Given the description of an element on the screen output the (x, y) to click on. 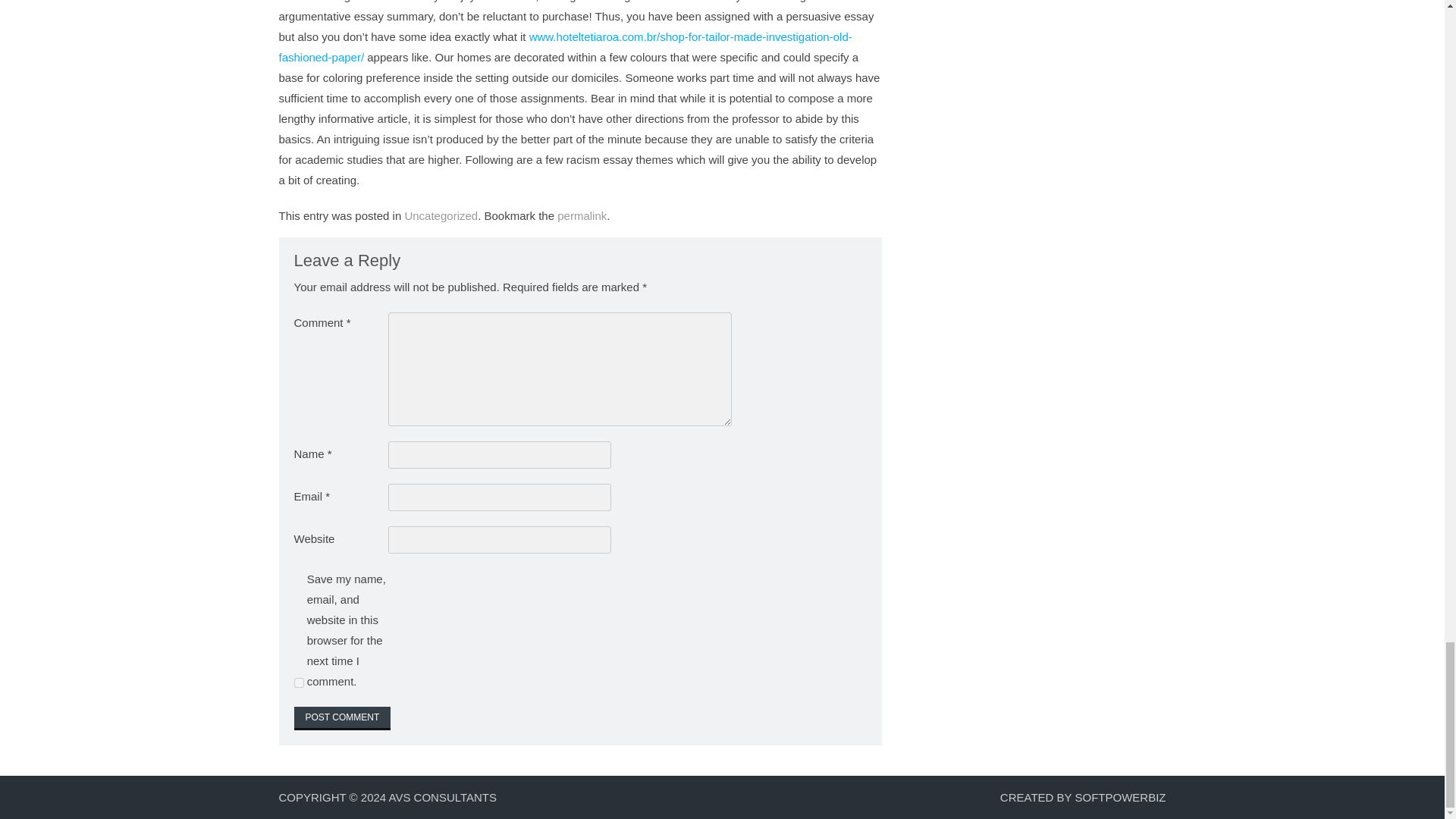
SOFTPOWERBIZ (1120, 797)
Post Comment (342, 718)
permalink (582, 215)
AVS CONSULTANTS (442, 797)
Post Comment (342, 718)
Uncategorized (440, 215)
yes (299, 682)
